Given the description of an element on the screen output the (x, y) to click on. 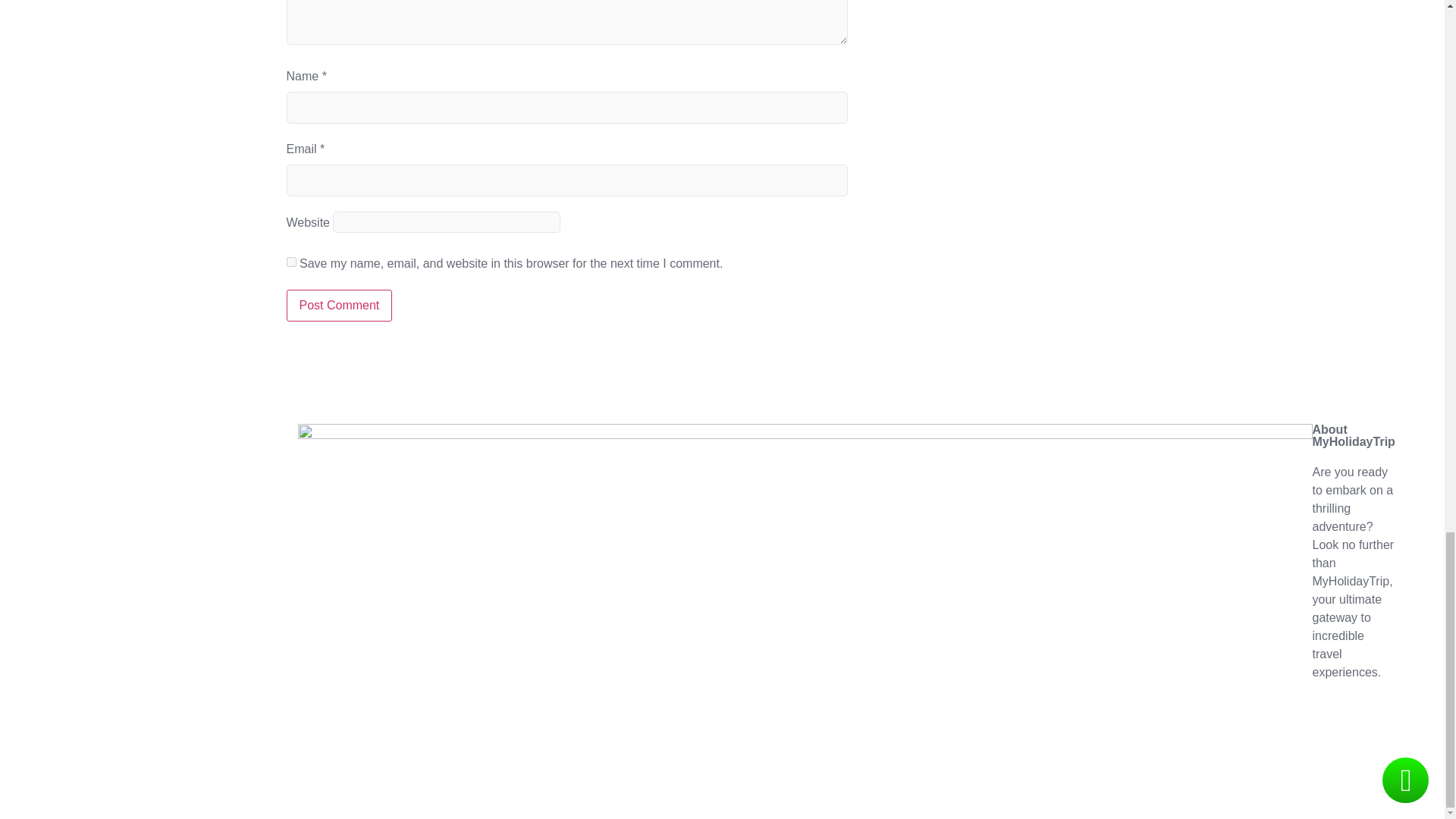
yes (291, 261)
Post Comment (339, 305)
Post Comment (339, 305)
